Given the description of an element on the screen output the (x, y) to click on. 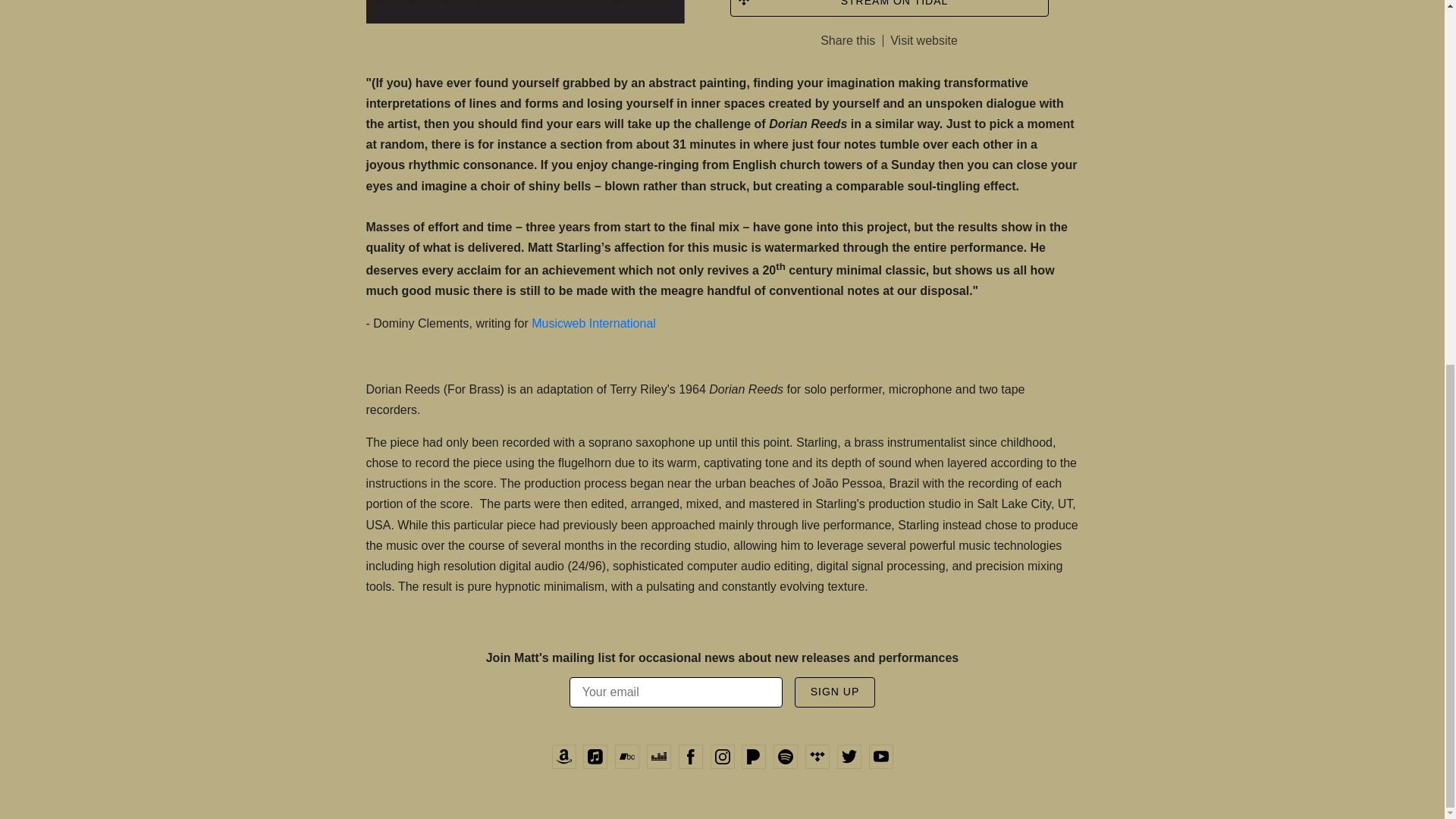
Share this (848, 40)
Visit website (923, 40)
STREAM ON TIDAL (888, 8)
SIGN UP (835, 692)
Musicweb International (593, 323)
